Given the description of an element on the screen output the (x, y) to click on. 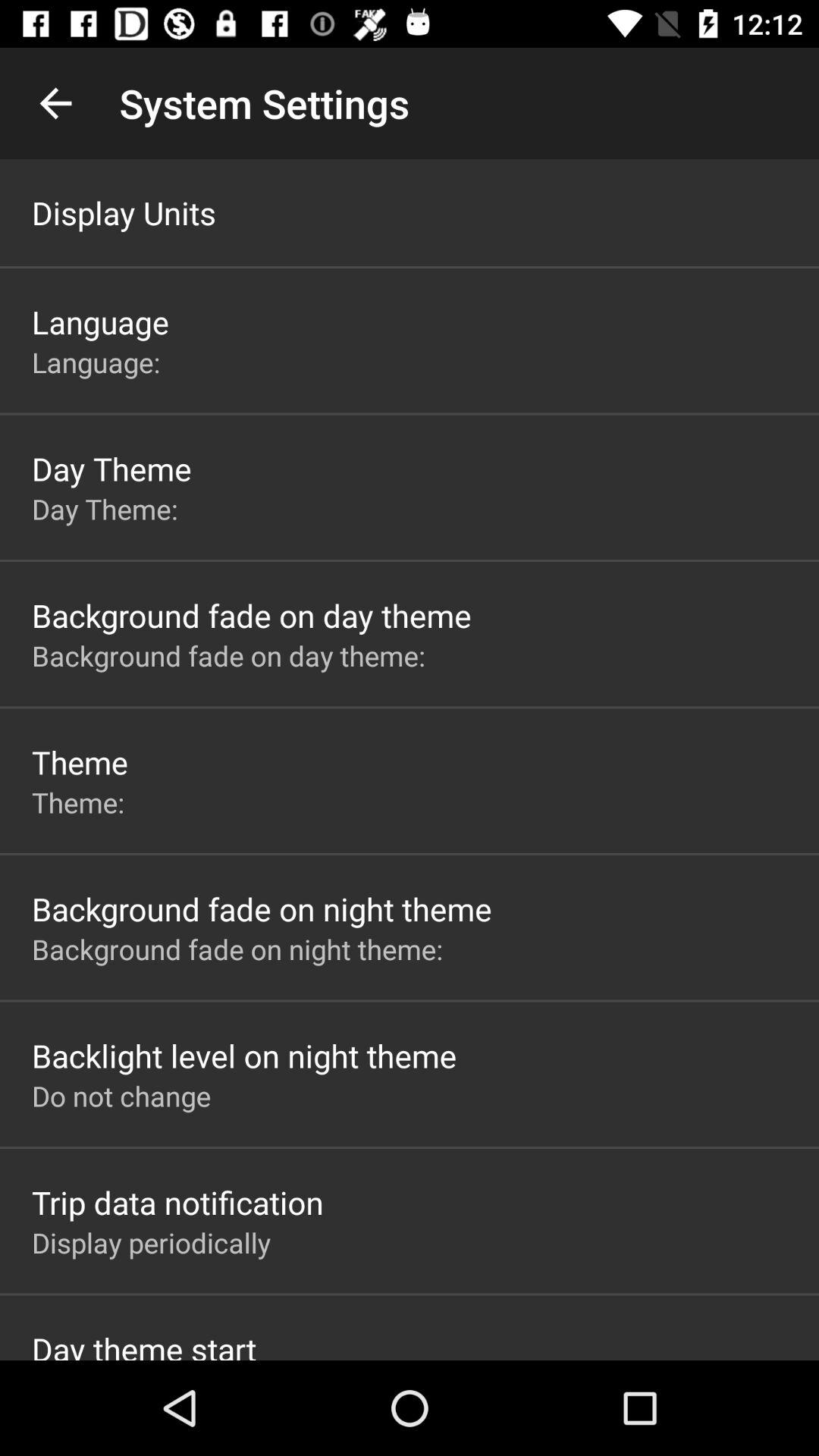
press the item above day theme start icon (150, 1242)
